Given the description of an element on the screen output the (x, y) to click on. 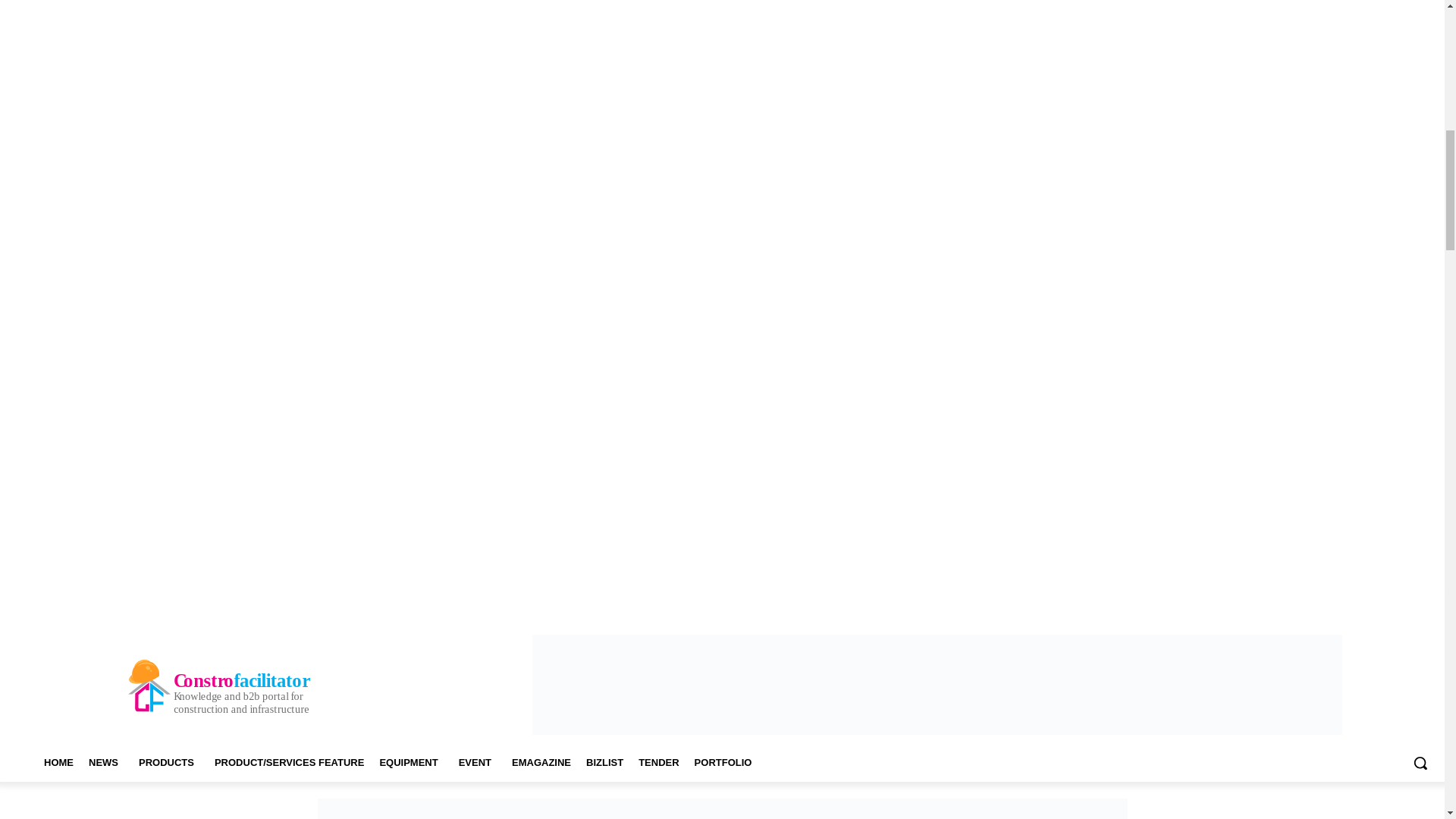
Instagram (1302, 602)
Facebook (1282, 602)
Share (1387, 602)
Pinterest (1345, 602)
RSS (1366, 602)
Linkedin (1324, 602)
